Given the description of an element on the screen output the (x, y) to click on. 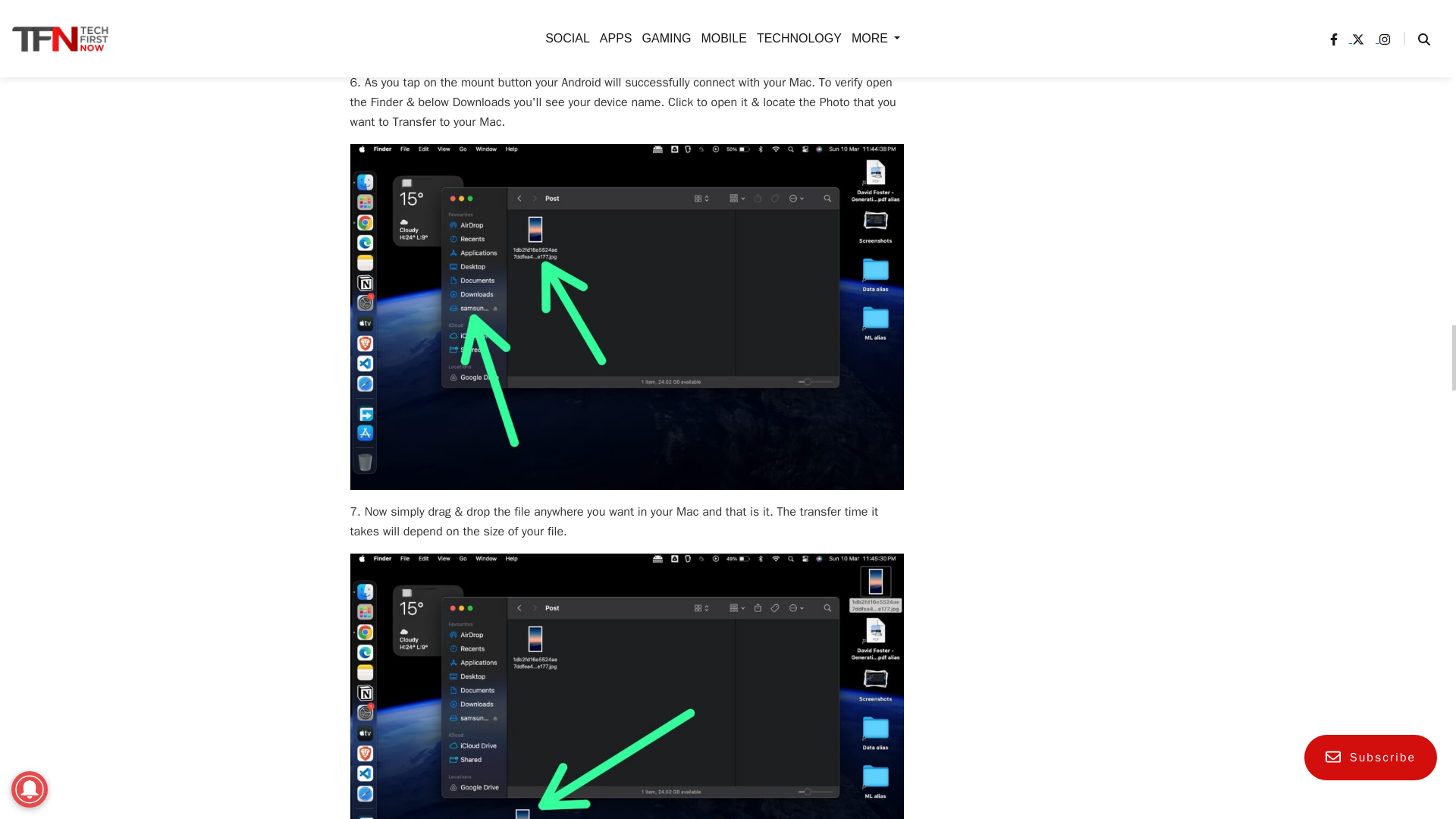
publive-image (627, 30)
